Given the description of an element on the screen output the (x, y) to click on. 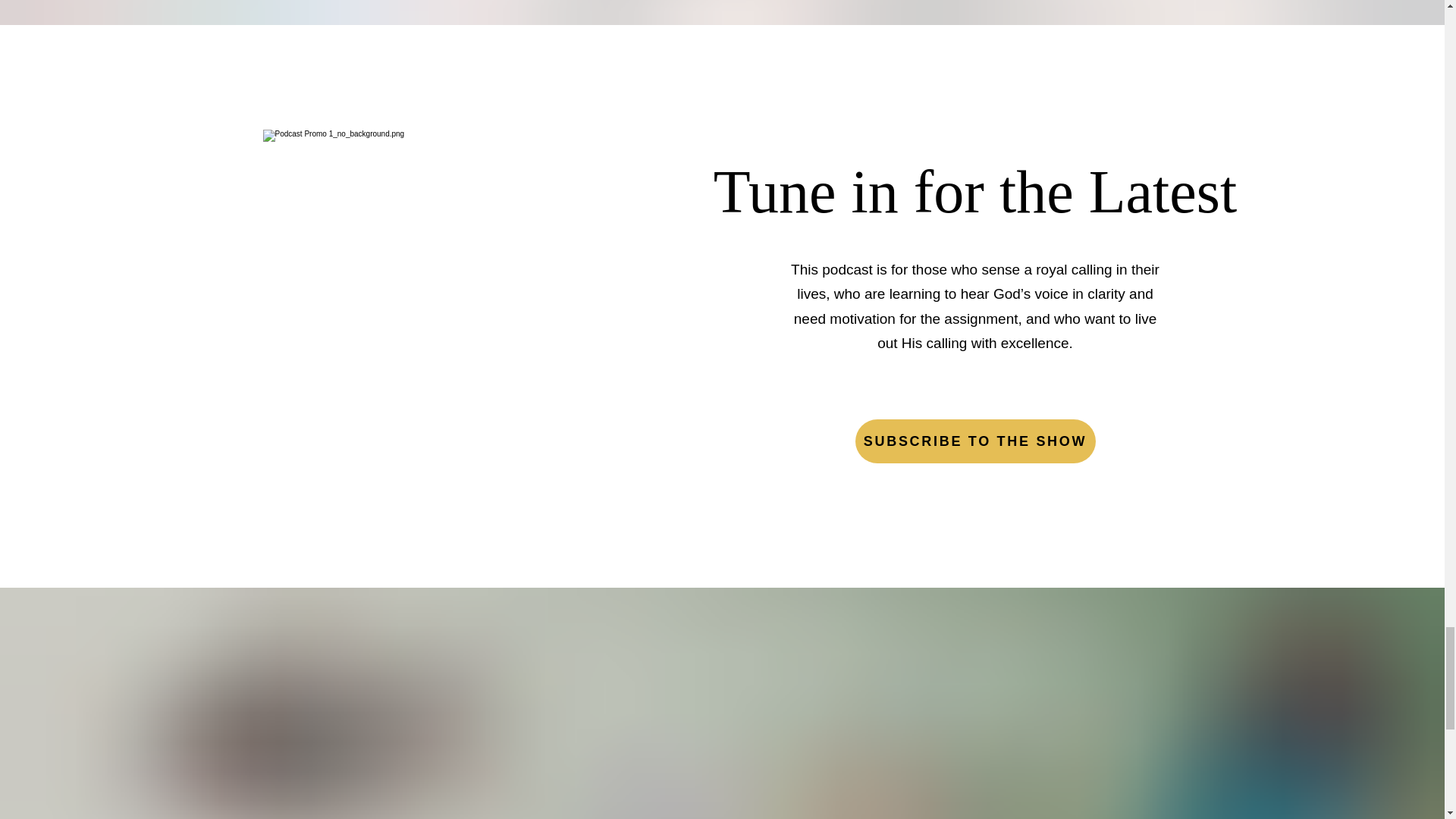
SUBSCRIBE TO THE SHOW (976, 441)
